Given the description of an element on the screen output the (x, y) to click on. 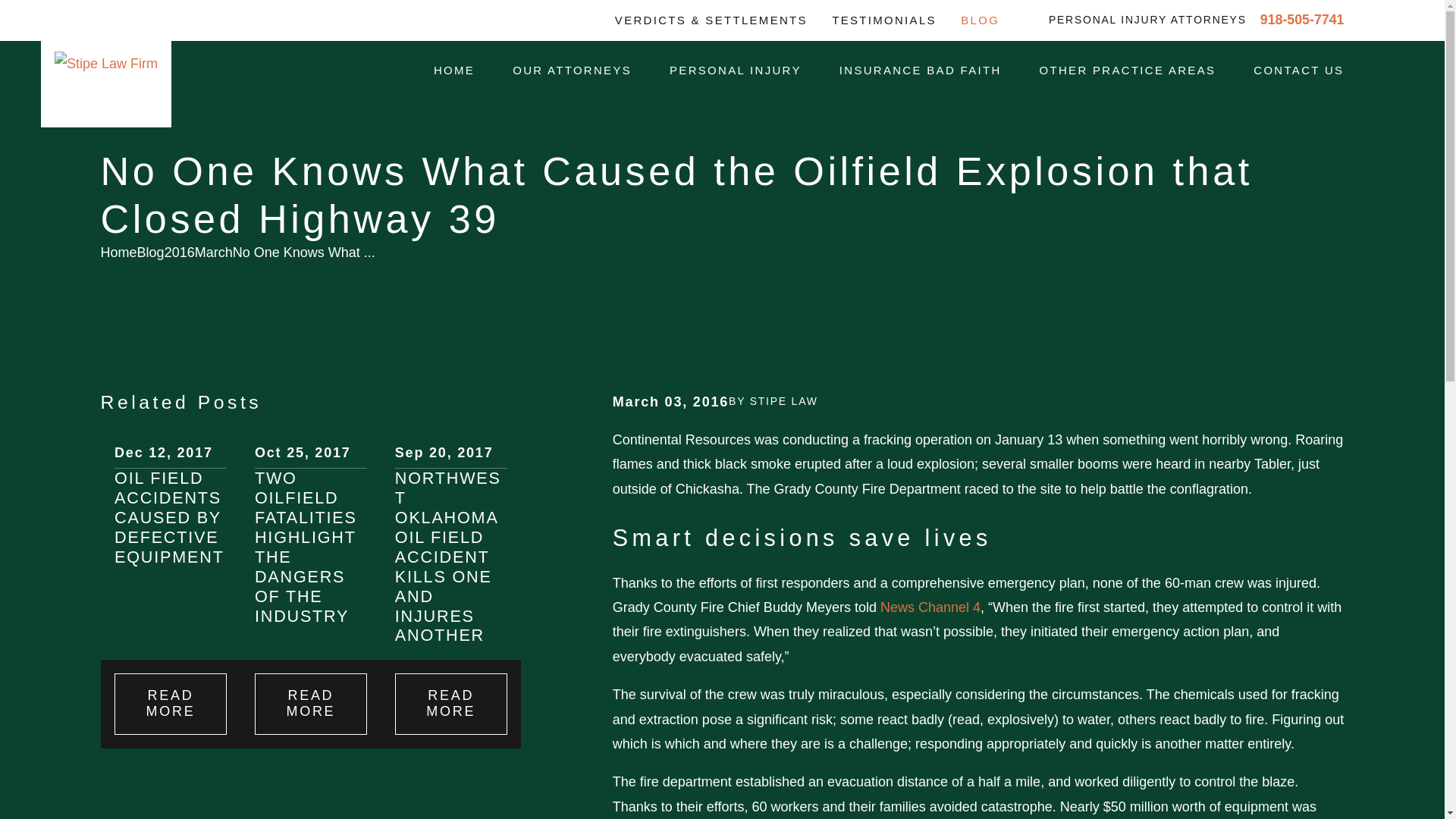
OUR ATTORNEYS (571, 70)
918-505-7741 (1301, 20)
Home (106, 63)
TESTIMONIALS (883, 19)
Go Home (118, 252)
PERSONAL INJURY (735, 70)
INSURANCE BAD FAITH (920, 70)
OTHER PRACTICE AREAS (1127, 70)
BLOG (979, 19)
HOME (453, 70)
CONTACT US (1298, 70)
